Given the description of an element on the screen output the (x, y) to click on. 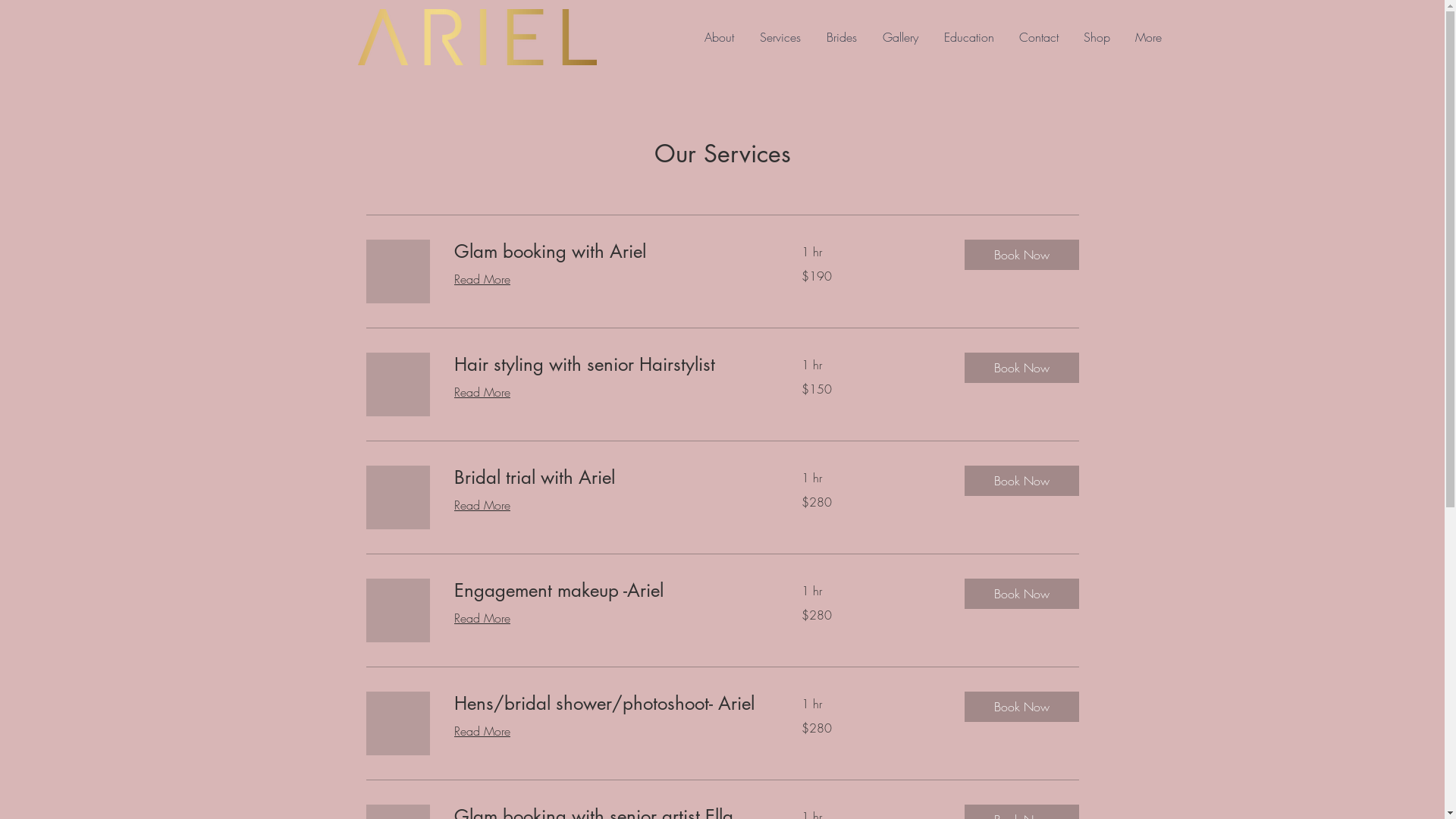
Book Now Element type: text (1021, 480)
Read More Element type: text (481, 391)
Gallery Element type: text (899, 37)
Book Now Element type: text (1021, 593)
Shop Element type: text (1096, 37)
Hair styling with senior Hairstylist Element type: text (608, 364)
Education Element type: text (969, 37)
Bridal trial with Ariel Element type: text (608, 477)
About Element type: text (718, 37)
Book Now Element type: text (1021, 254)
Read More Element type: text (481, 504)
Glam booking with Ariel Element type: text (608, 251)
Services Element type: text (779, 37)
Brides Element type: text (840, 37)
Engagement makeup -Ariel Element type: text (608, 590)
Read More Element type: text (481, 730)
Read More Element type: text (481, 617)
Read More Element type: text (481, 278)
Book Now Element type: text (1021, 367)
Contact Element type: text (1039, 37)
Book Now Element type: text (1021, 706)
Hens/bridal shower/photoshoot- Ariel Element type: text (608, 703)
